Given the description of an element on the screen output the (x, y) to click on. 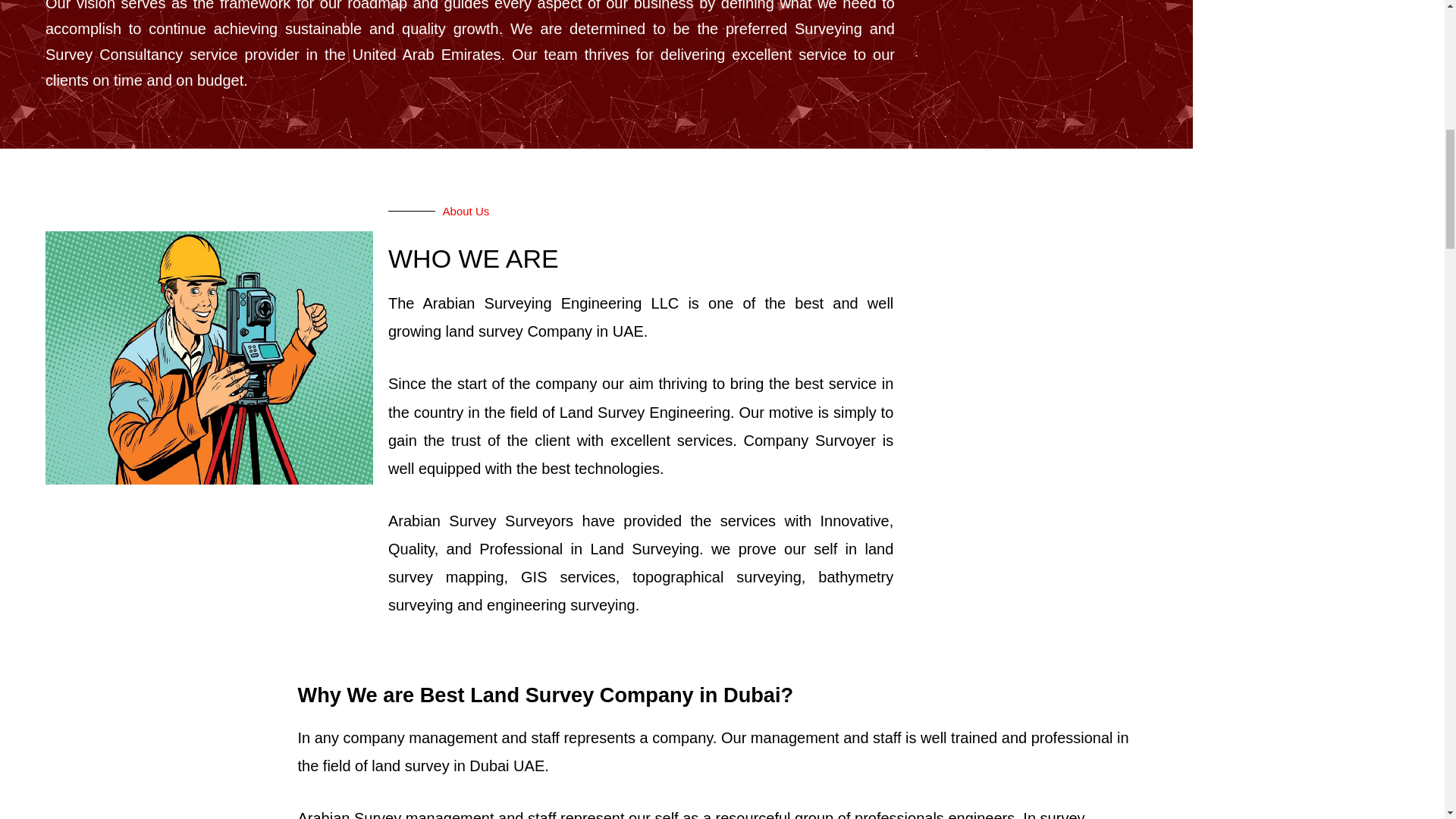
Land Survey (602, 411)
survey Company (535, 330)
